Given the description of an element on the screen output the (x, y) to click on. 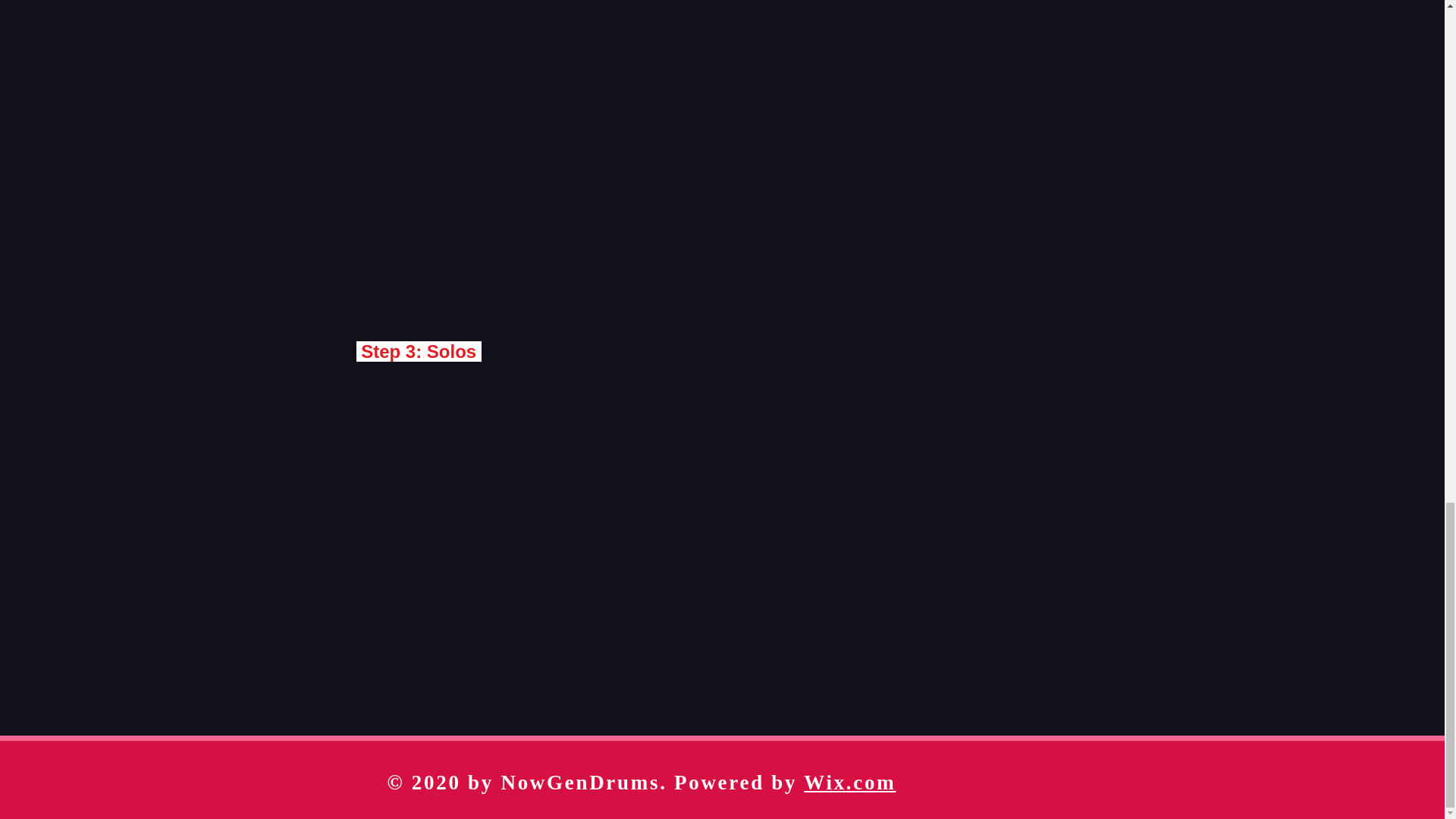
Wix.com (849, 782)
